Given the description of an element on the screen output the (x, y) to click on. 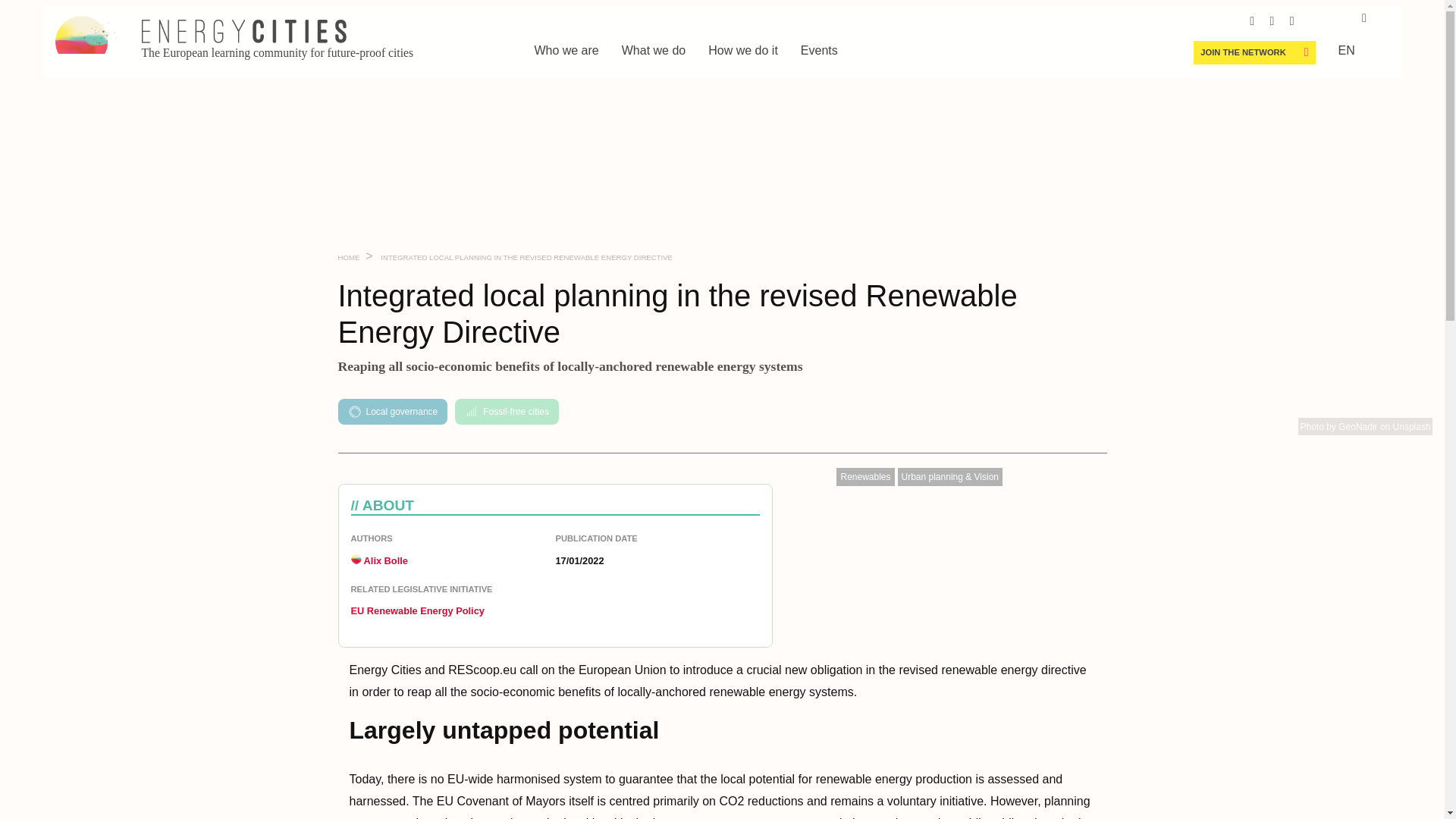
EN (1346, 50)
JOIN THE NETWORK (1242, 51)
EU Renewable Energy Policy (416, 610)
What we do (653, 50)
HOME (348, 257)
EN (1346, 50)
Fossil-free cities (506, 411)
Local governance (392, 411)
How we do it (742, 50)
